Given the description of an element on the screen output the (x, y) to click on. 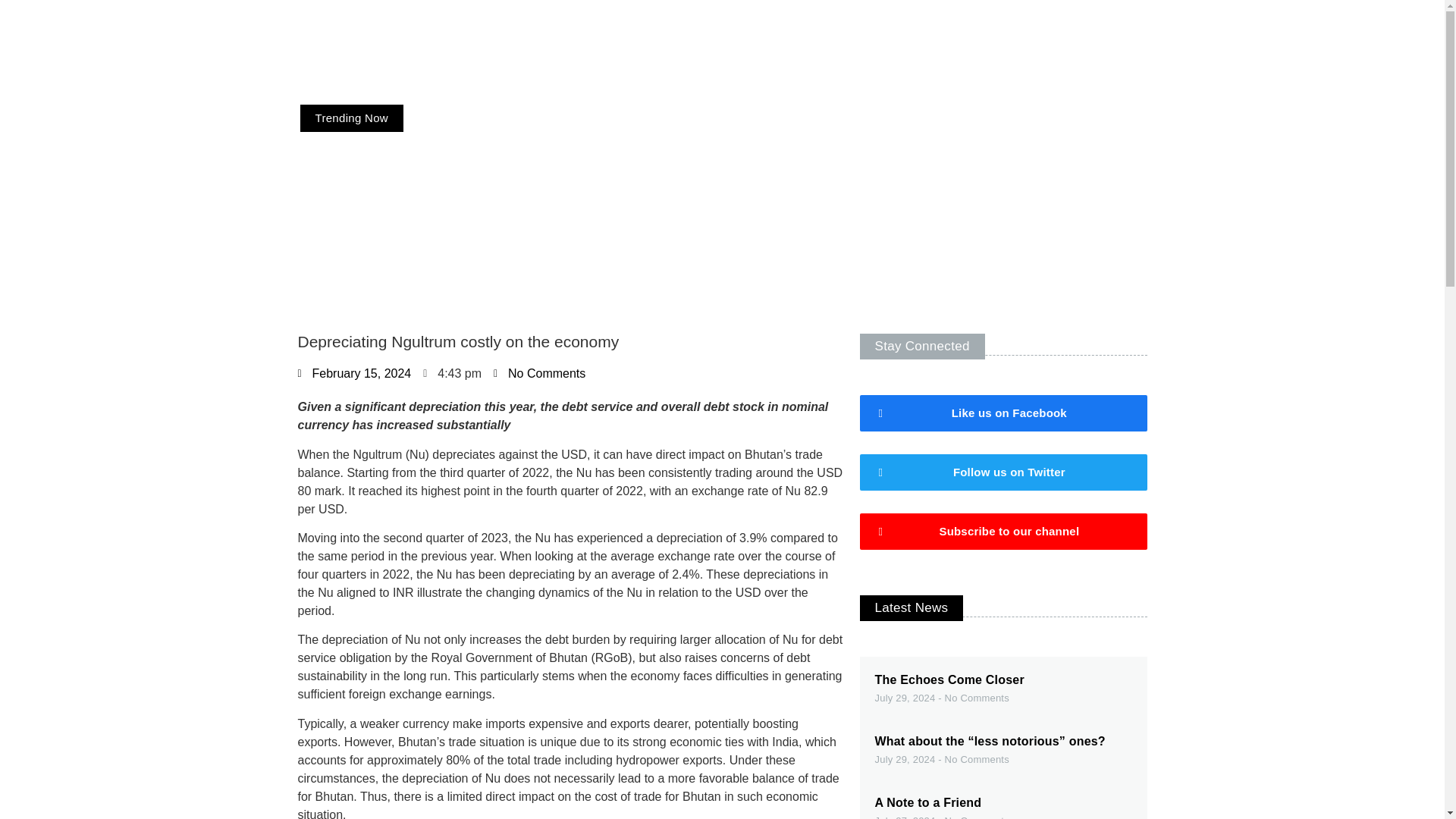
February 15, 2024 (353, 373)
Follow us on Twitter (1003, 472)
Like us on Facebook (1003, 412)
No Comments (539, 373)
Subscribe to our channel (1003, 531)
